Given the description of an element on the screen output the (x, y) to click on. 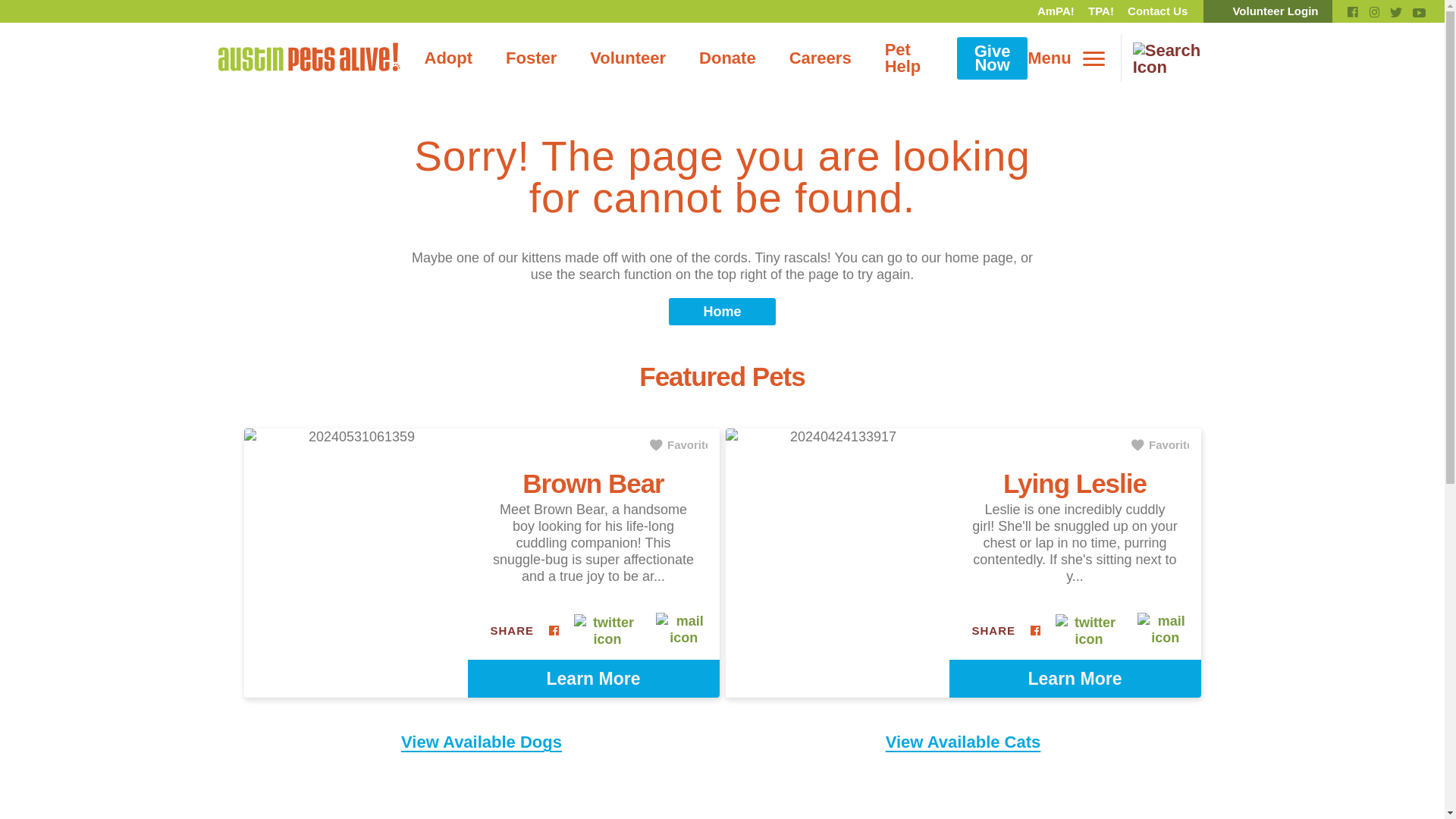
Favorite (677, 444)
Contact Us (1157, 11)
Pet Help (902, 58)
TPA! (1101, 11)
Favorite (1160, 444)
Adopt (448, 58)
Careers (820, 58)
AmPA! (1056, 11)
Volunteer (627, 58)
Foster (531, 58)
Donate (727, 58)
Volunteer Login (1268, 11)
